Given the description of an element on the screen output the (x, y) to click on. 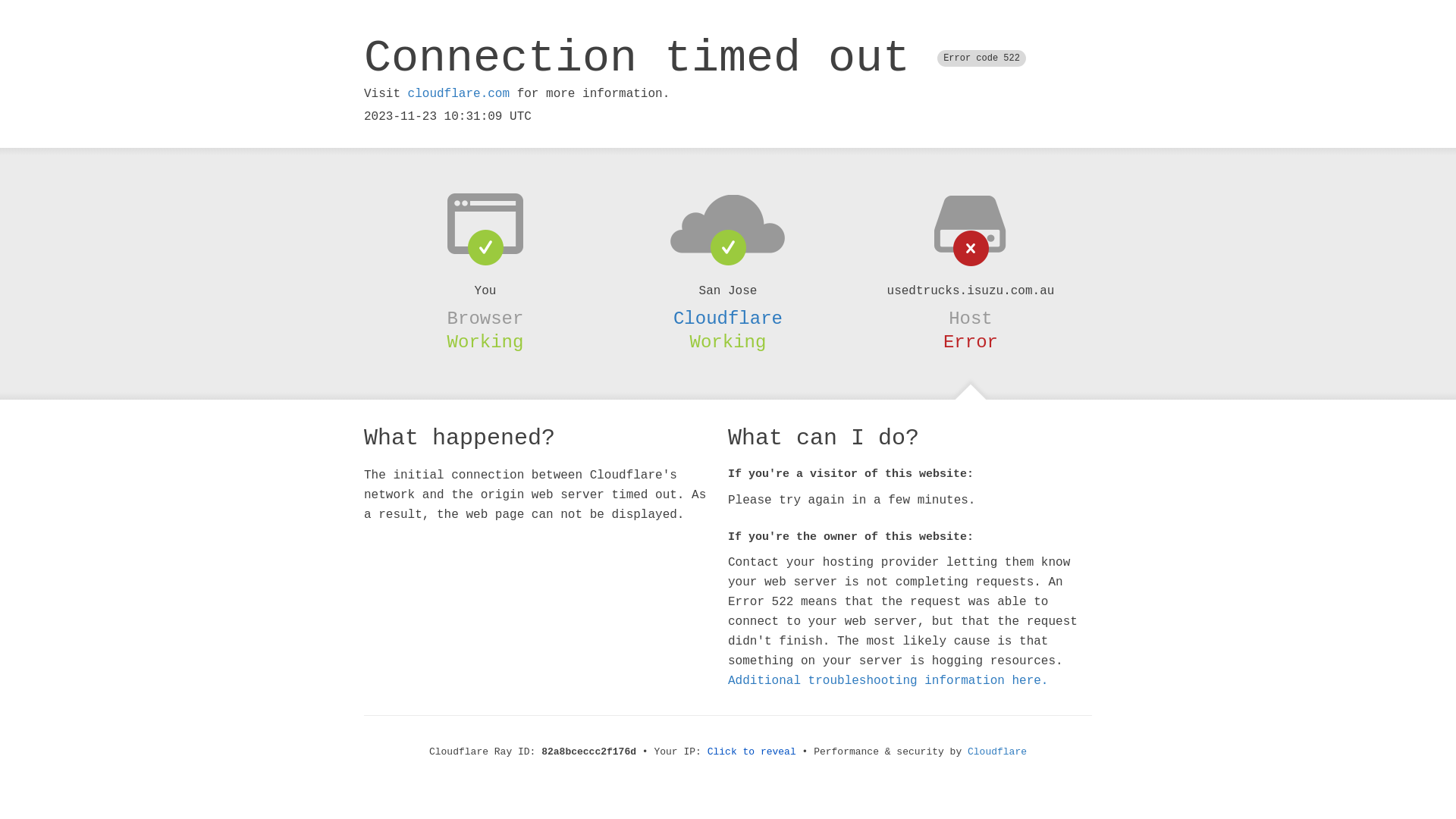
Click to reveal Element type: text (751, 751)
Cloudflare Element type: text (996, 751)
Additional troubleshooting information here. Element type: text (888, 680)
cloudflare.com Element type: text (458, 93)
Cloudflare Element type: text (727, 318)
